Given the description of an element on the screen output the (x, y) to click on. 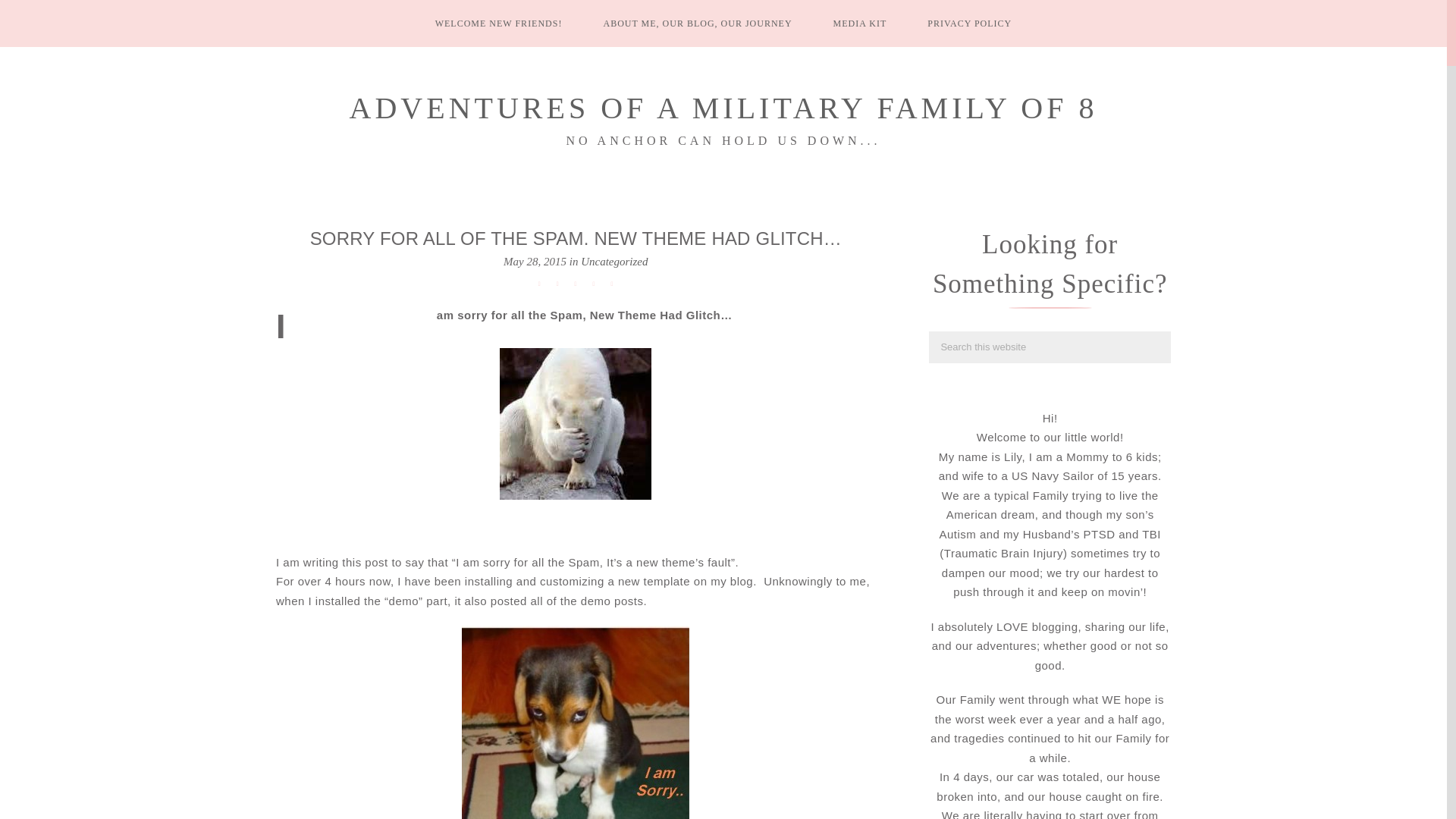
WELCOME NEW FRIENDS! (498, 23)
PRIVACY POLICY (969, 23)
Uncategorized (613, 261)
ADVENTURES OF A MILITARY FAMILY OF 8 (723, 107)
ABOUT ME, OUR BLOG, OUR JOURNEY (696, 23)
MEDIA KIT (859, 23)
